Given the description of an element on the screen output the (x, y) to click on. 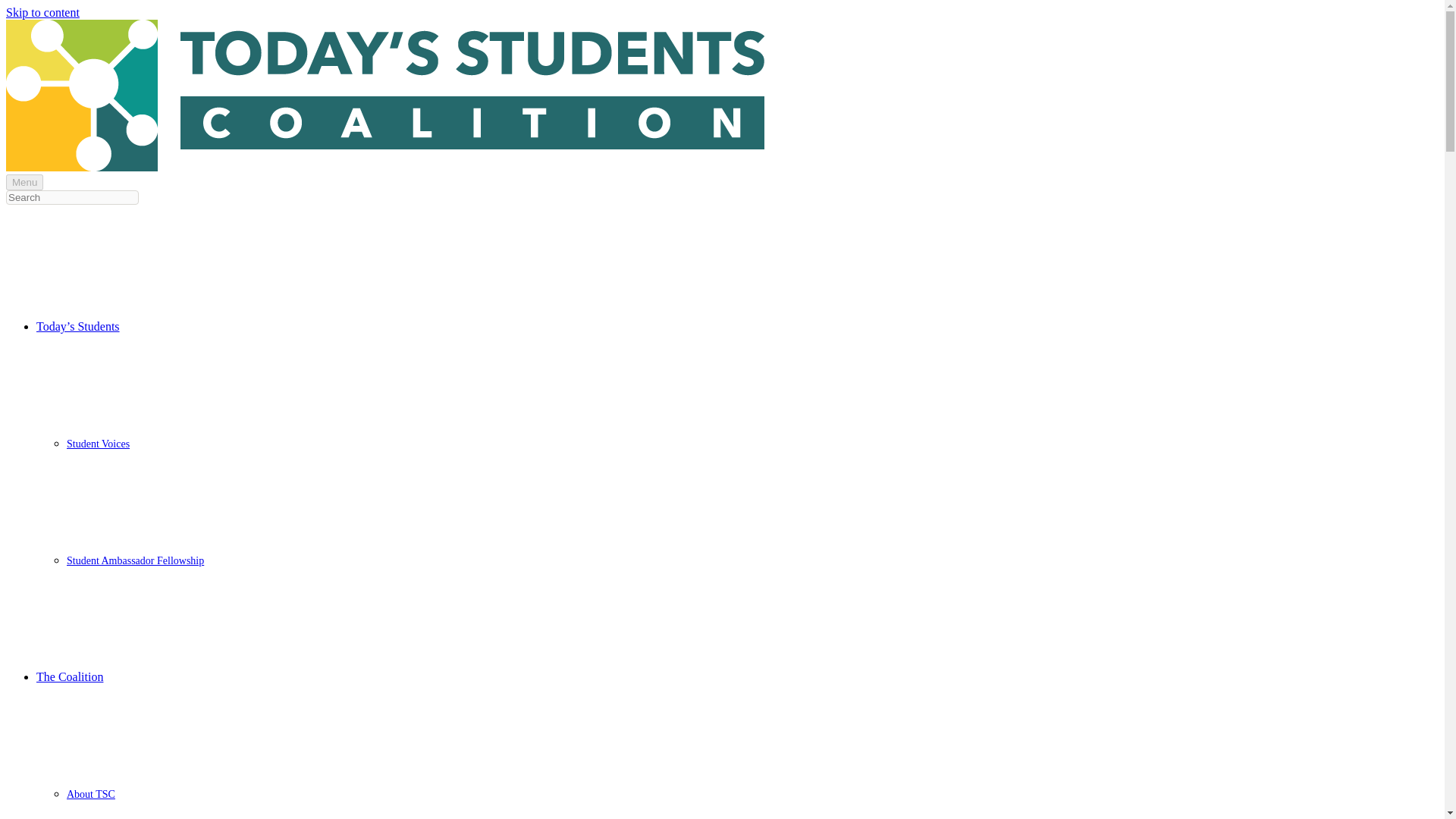
About TSC (90, 794)
Student Voices (97, 443)
The Coalition (69, 676)
Menu (24, 182)
Skip to content (42, 11)
Student Ambassador Fellowship (134, 560)
